Given the description of an element on the screen output the (x, y) to click on. 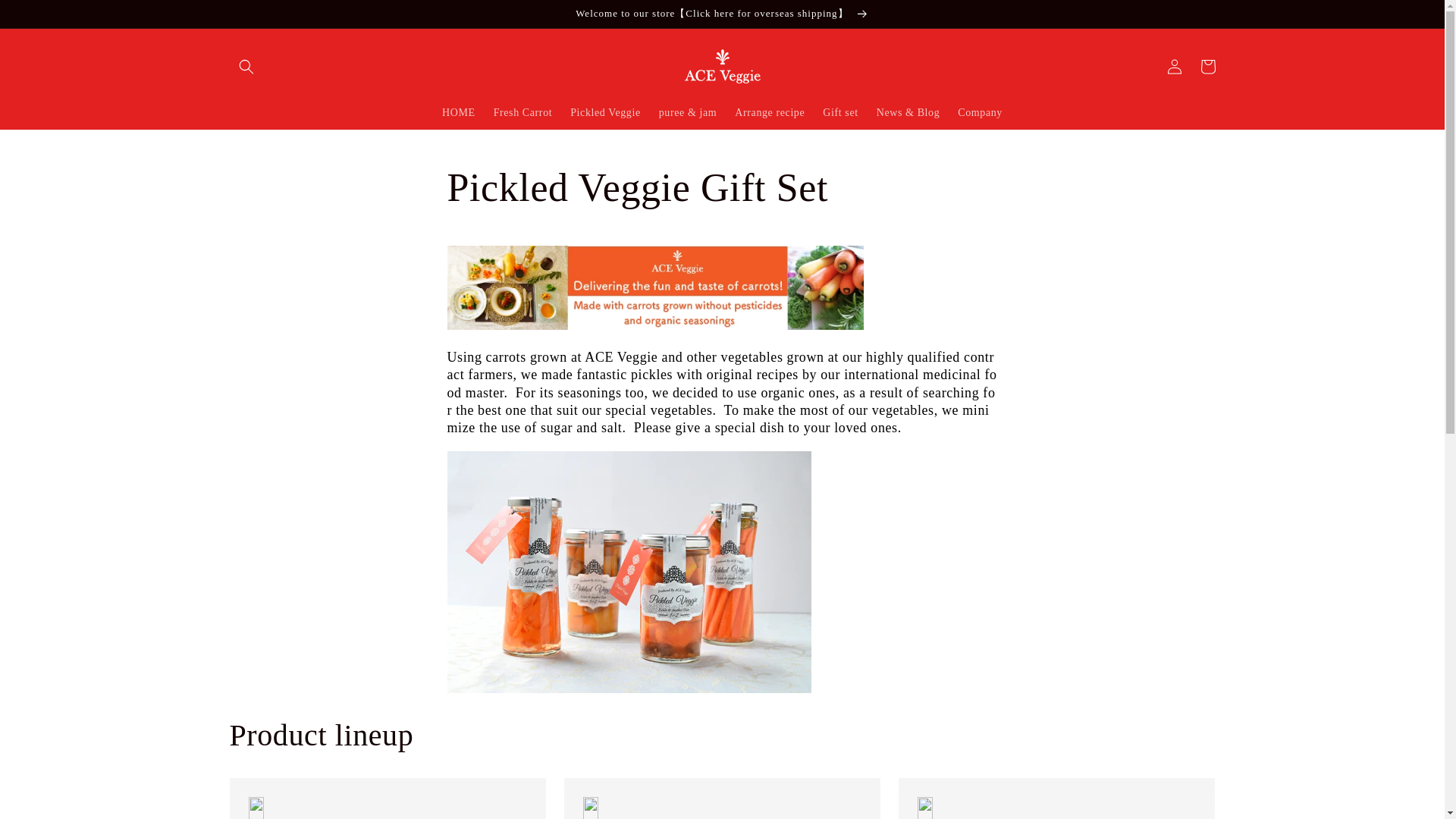
Log in (1174, 66)
Cart (1207, 66)
Fresh Carrot (523, 112)
Arrange recipe (769, 112)
Gift set (839, 112)
Pickled Veggie (604, 112)
Skip to content (45, 17)
HOME (458, 112)
Company (980, 112)
